Given the description of an element on the screen output the (x, y) to click on. 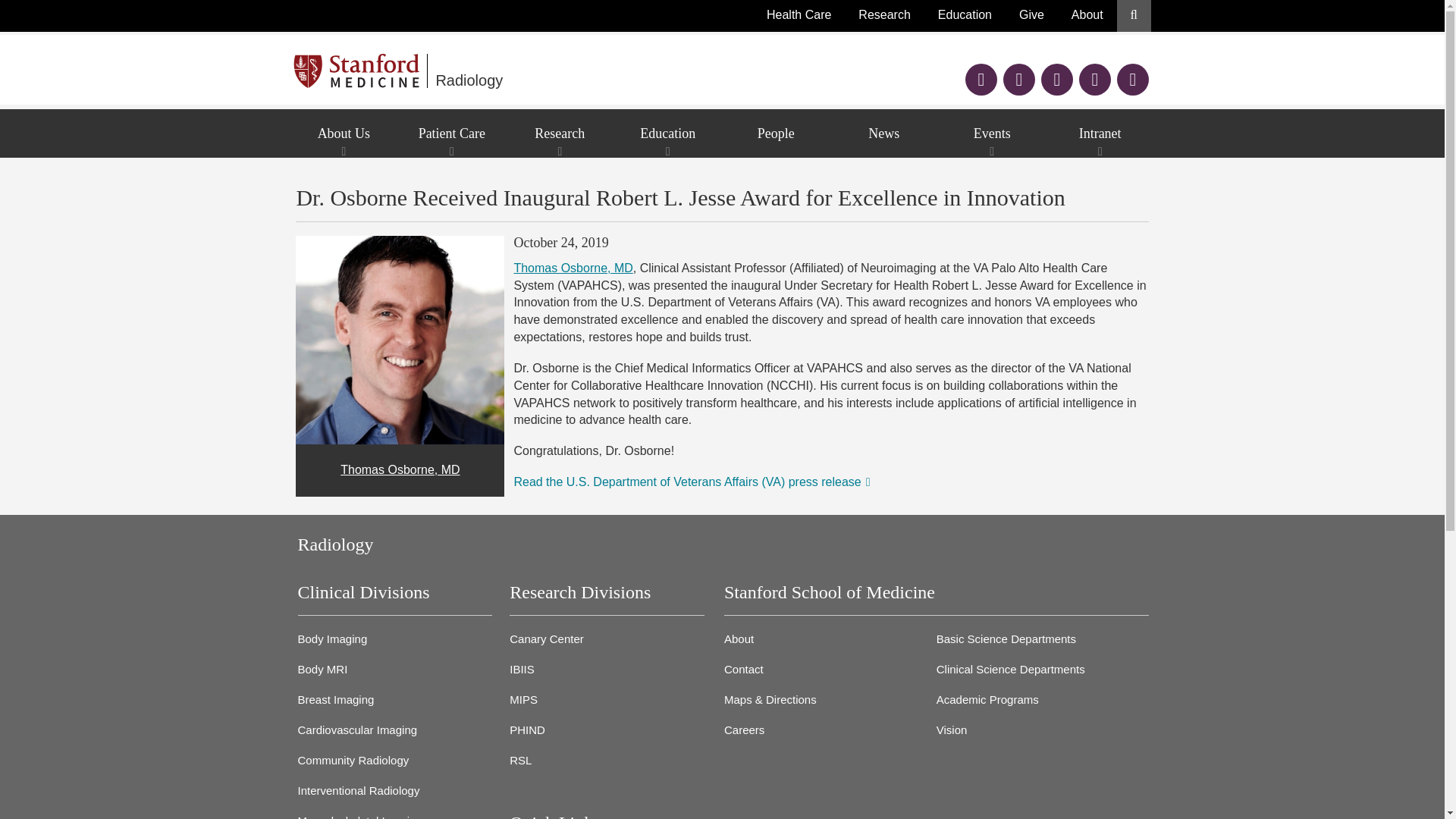
See us on linkedin (981, 81)
See us on youtube (1132, 81)
See us on instagram (1057, 81)
See us on flickr (1094, 81)
See us on twitter (1019, 81)
Stanford Medicine (361, 70)
Radiology (616, 71)
Photo of Thomas Osborne  (399, 339)
